Given the description of an element on the screen output the (x, y) to click on. 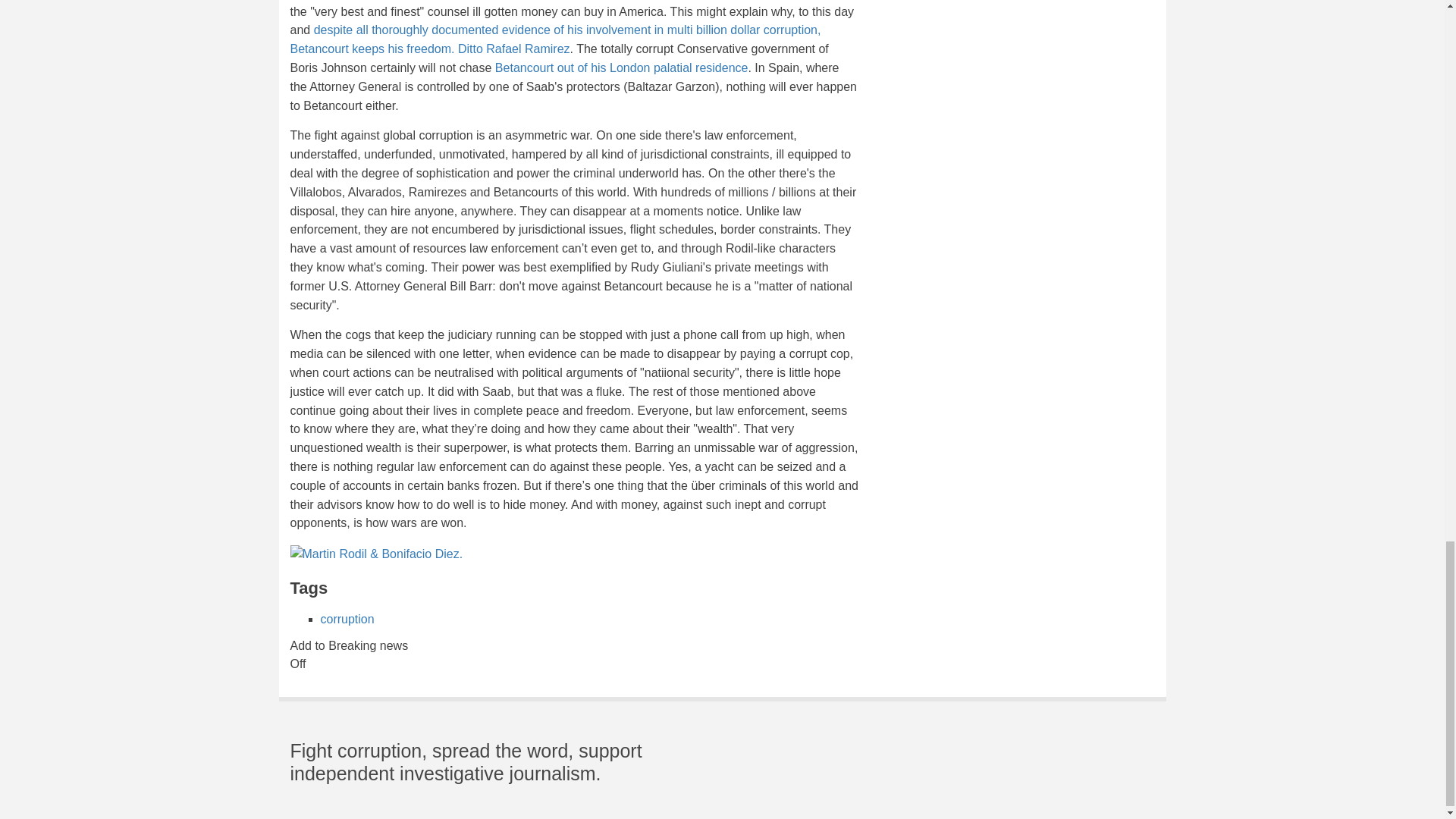
Betancourt out of his London palatial residence (621, 67)
corruption (347, 618)
